Given the description of an element on the screen output the (x, y) to click on. 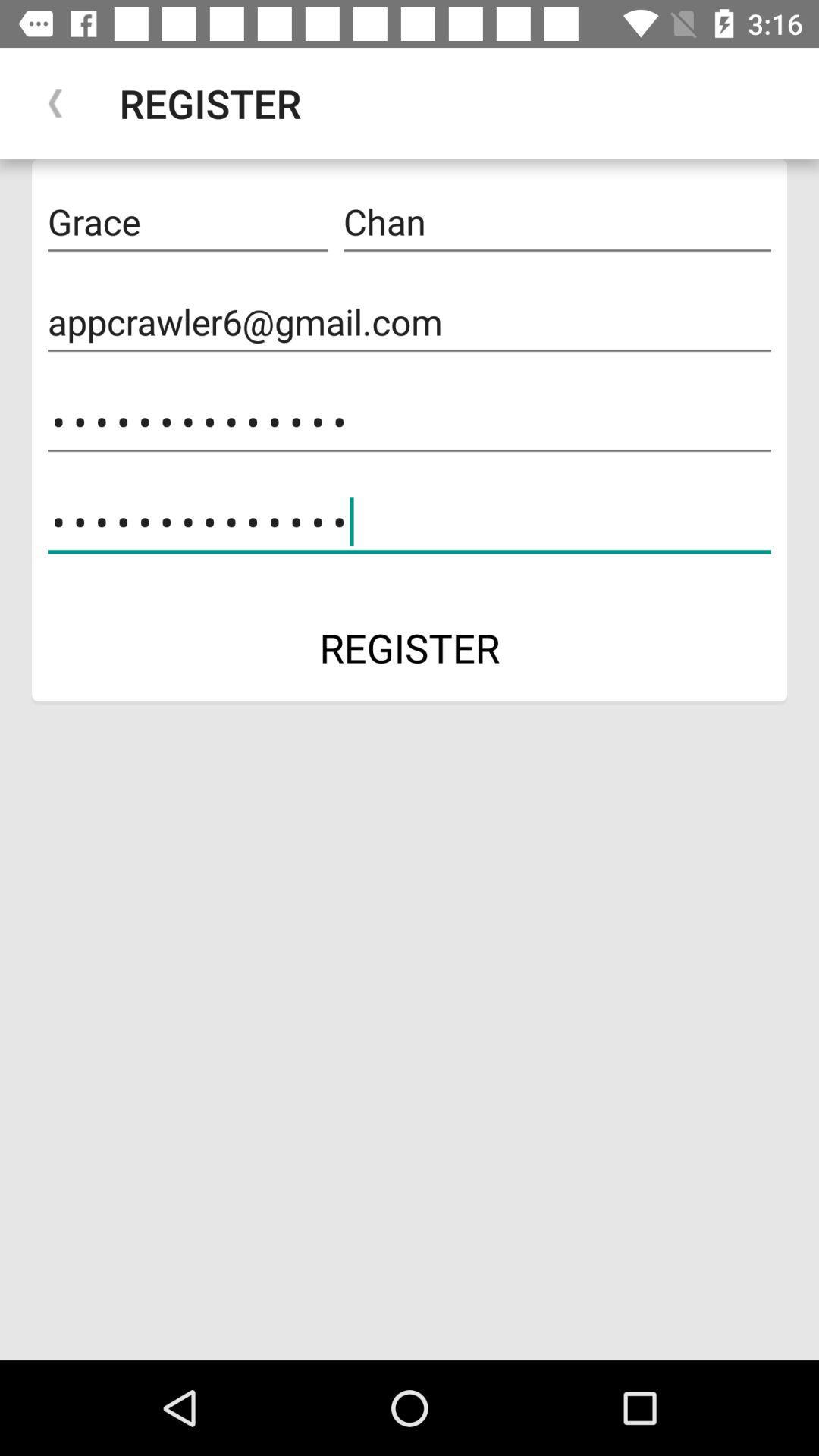
turn on the icon below the grace icon (409, 322)
